Given the description of an element on the screen output the (x, y) to click on. 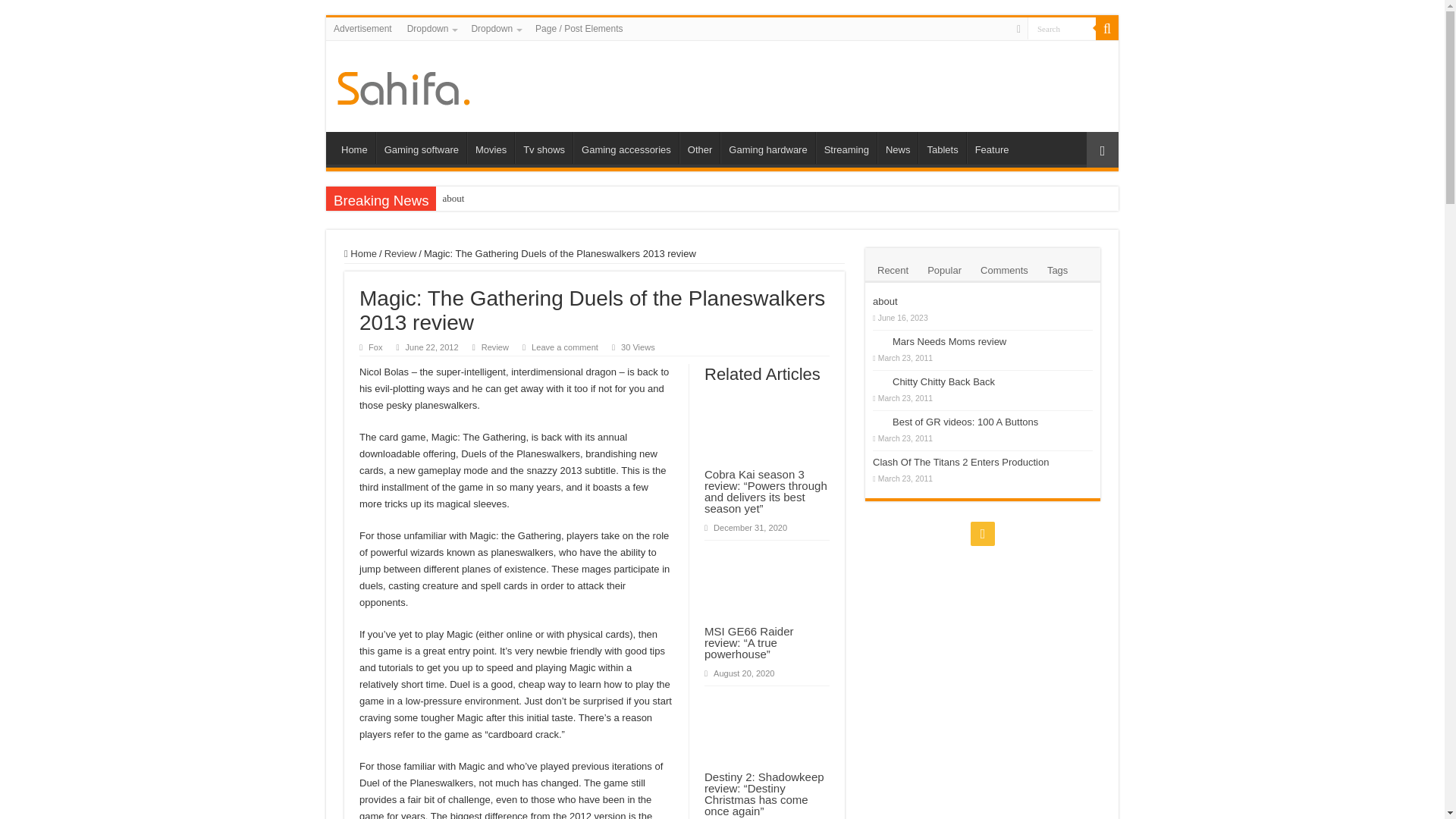
Feature (991, 147)
Random Article (1102, 149)
Search (1061, 28)
Gaming hardware (766, 147)
Gaming accessories (625, 147)
about (680, 198)
Movies (490, 147)
about (680, 198)
Game News (403, 85)
Gaming software (420, 147)
